Given the description of an element on the screen output the (x, y) to click on. 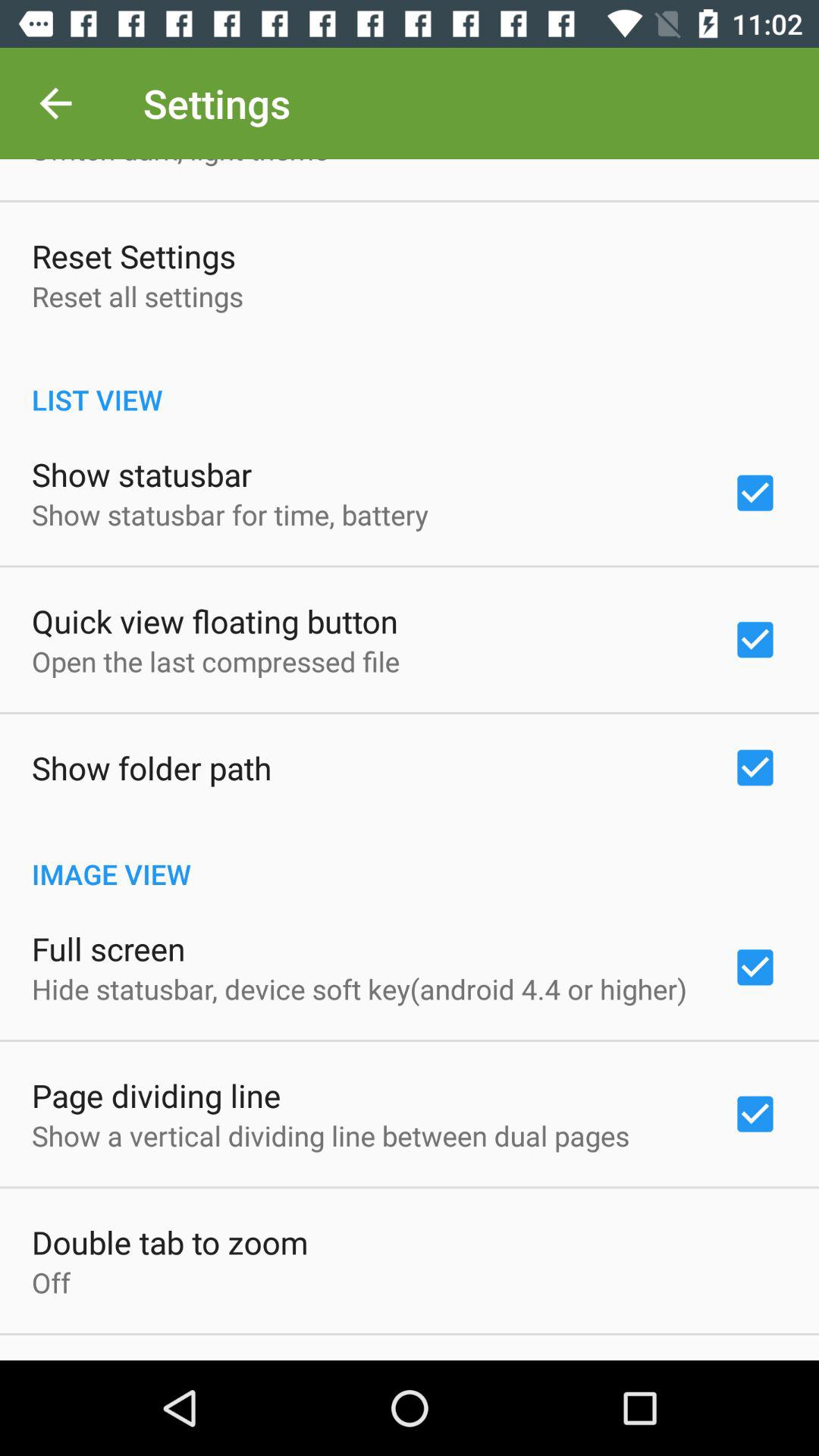
turn off icon above the full screen item (409, 857)
